Given the description of an element on the screen output the (x, y) to click on. 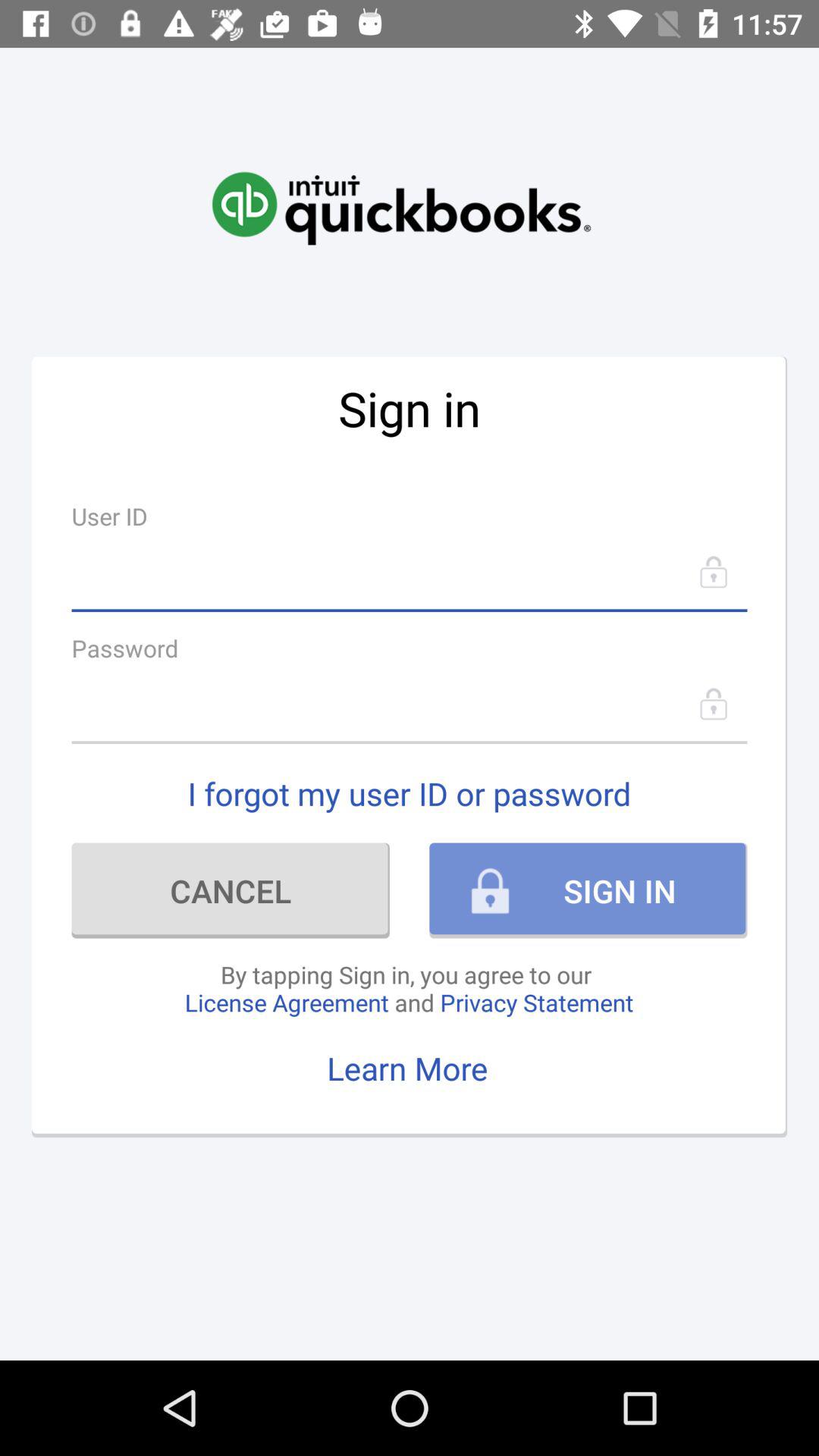
tap the icon above learn more (408, 988)
